Given the description of an element on the screen output the (x, y) to click on. 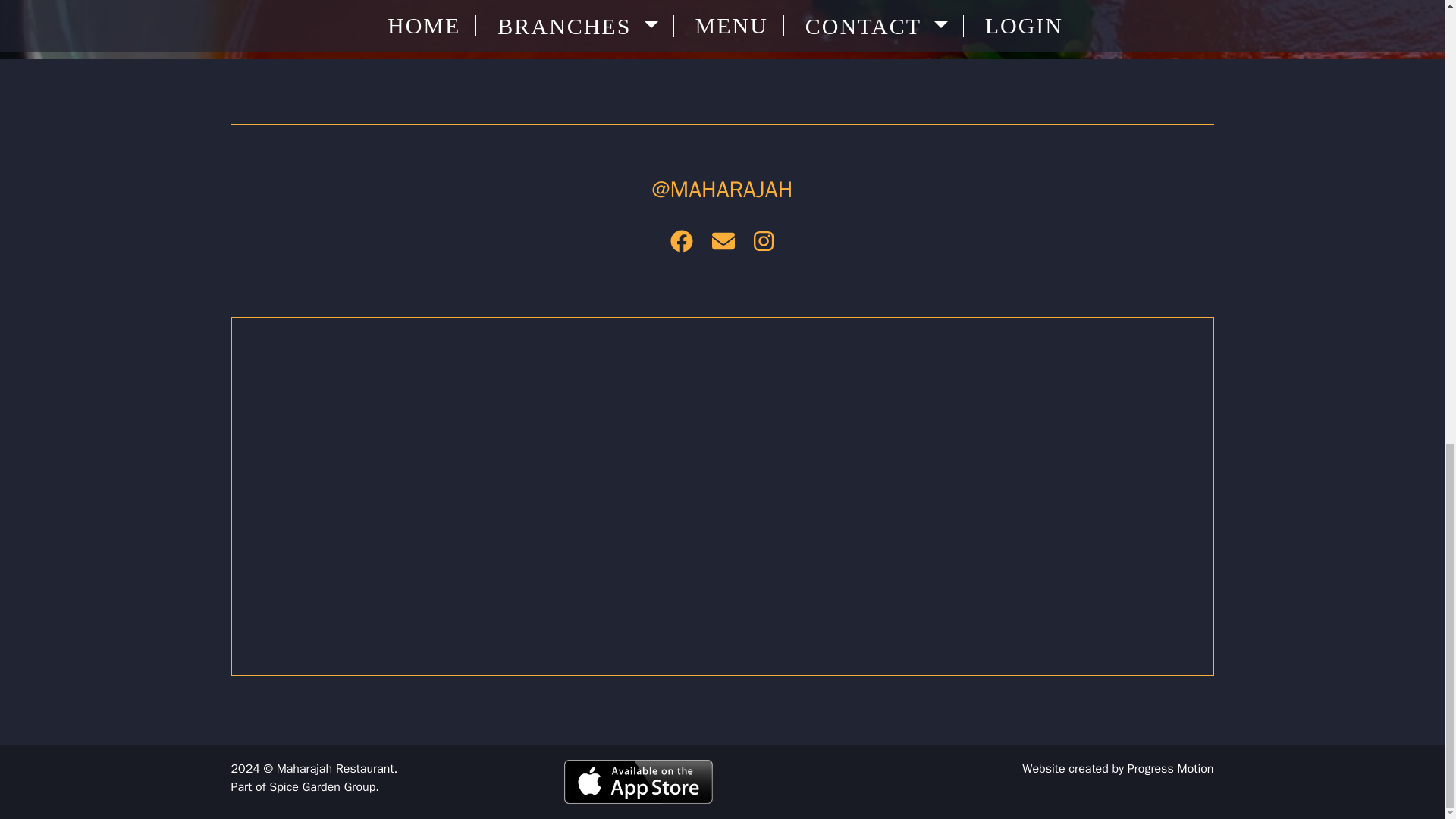
Spice Garden Group (322, 786)
Progress Motion (1170, 769)
